Given the description of an element on the screen output the (x, y) to click on. 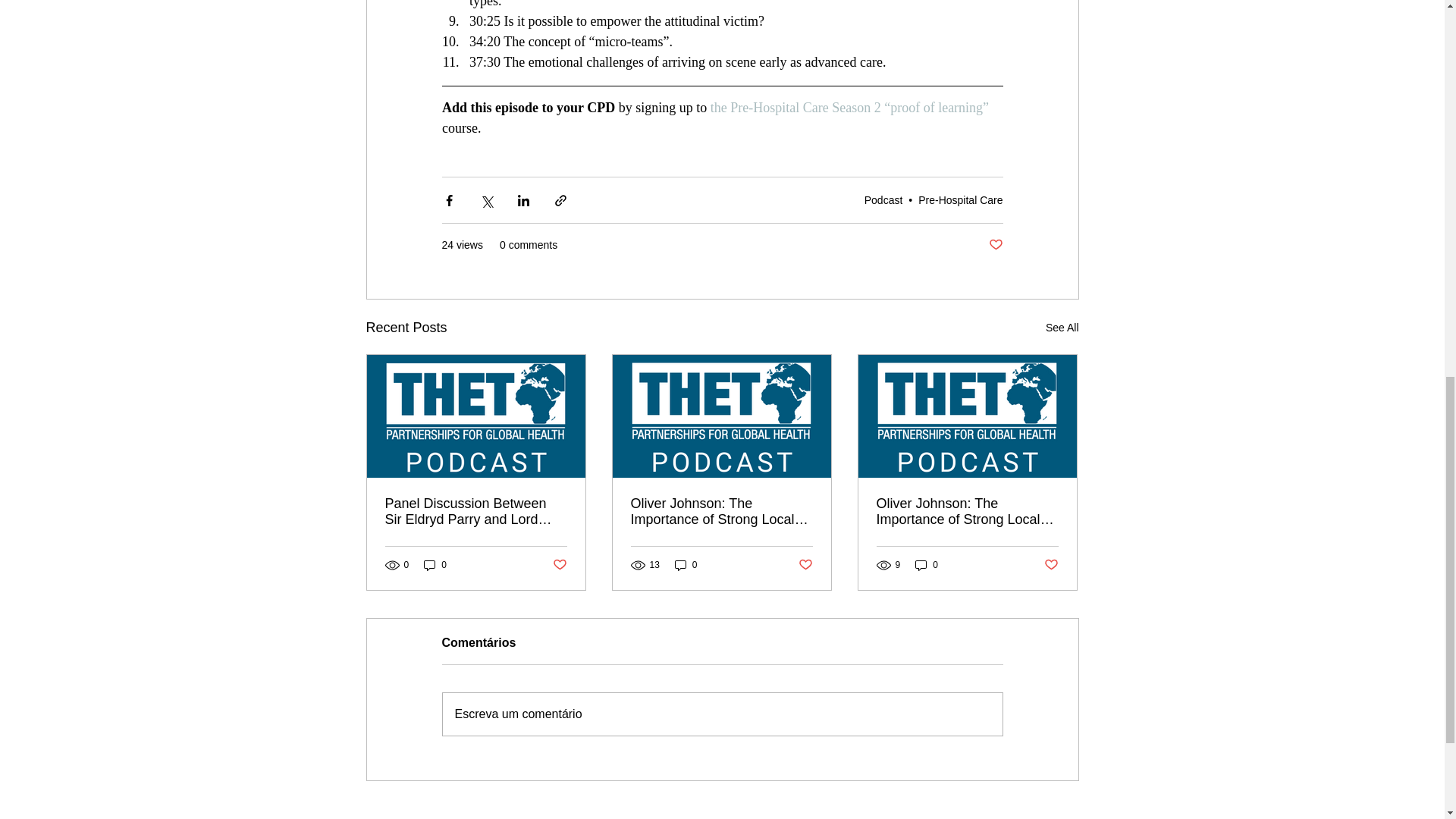
See All (1061, 327)
Pre-Hospital Care (960, 200)
Post not marked as liked (995, 245)
Podcast (883, 200)
Post not marked as liked (558, 564)
0 (435, 564)
